Given the description of an element on the screen output the (x, y) to click on. 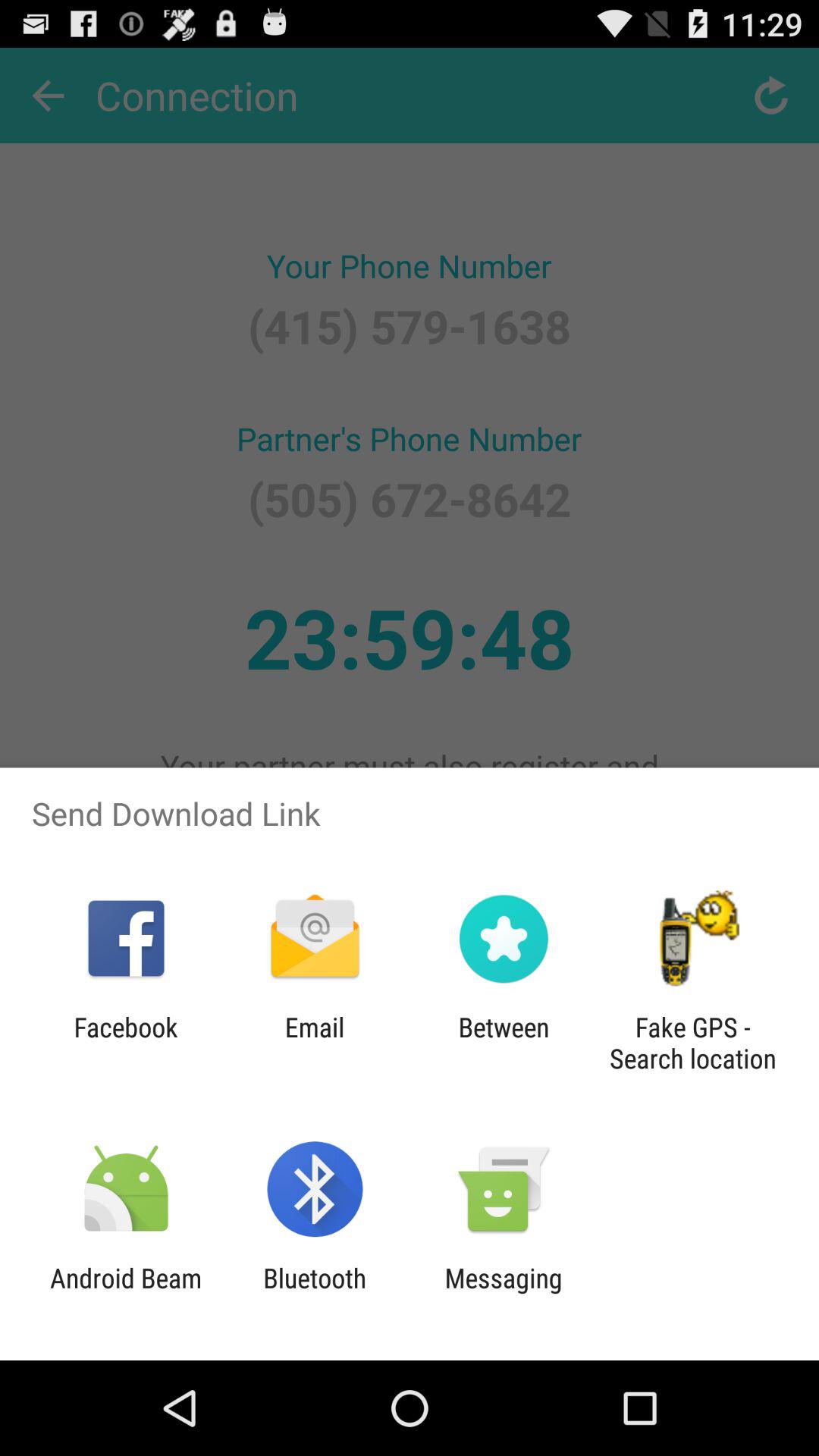
turn off the item to the right of android beam app (314, 1293)
